Given the description of an element on the screen output the (x, y) to click on. 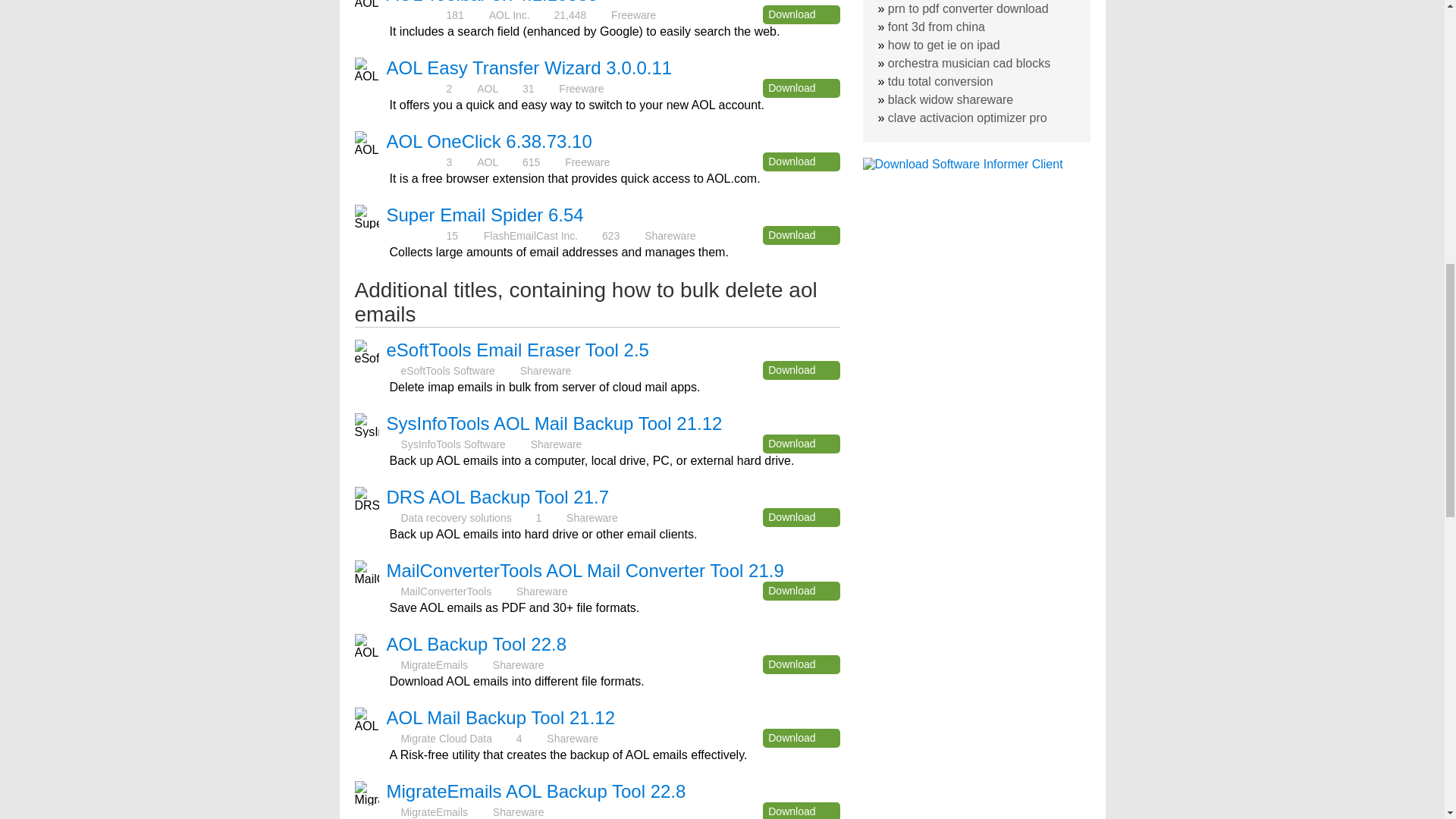
3.4 (415, 14)
Download (801, 87)
Super Email Spider 6.54 (485, 214)
5 (415, 88)
Download (801, 443)
MailConverterTools AOL Mail Converter Tool 21.9 (585, 570)
Download (801, 517)
AOL OneClick 6.38.73.10 (489, 141)
AOL Backup Tool 22.8 (477, 643)
eSoftTools Email Eraser Tool 2.5 (518, 349)
3.4 (415, 234)
MailConverterTools AOL Mail Converter Tool 21.9 (585, 570)
Download (801, 235)
SysInfoTools AOL Mail Backup Tool 21.12 (554, 423)
AOL OneClick 6.38.73.10 (489, 141)
